Given the description of an element on the screen output the (x, y) to click on. 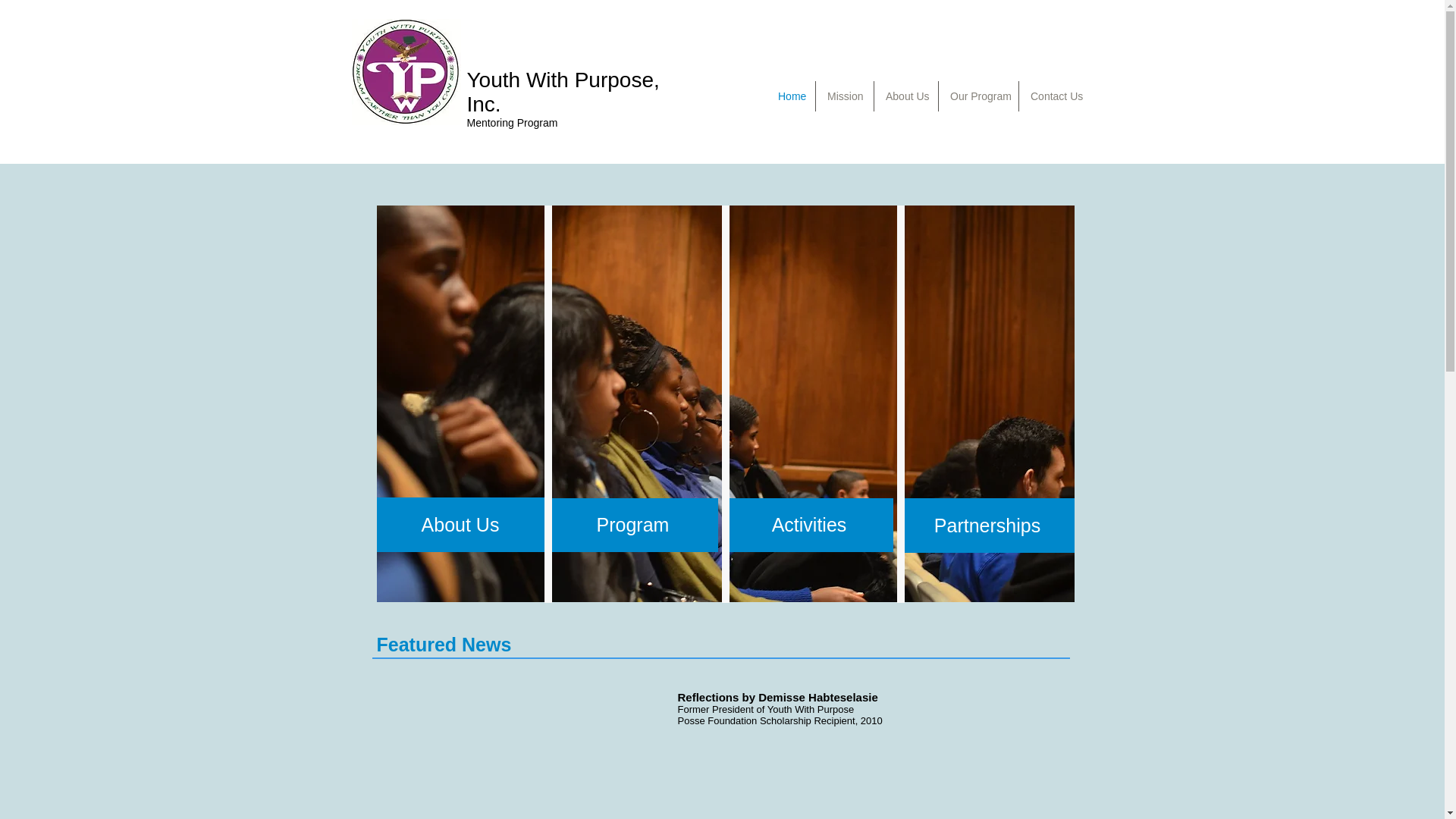
Home (791, 96)
Contact Us (1054, 96)
Program (632, 524)
Mentoring Program (512, 122)
Youth With Purpose, Inc. (563, 91)
Activities (808, 524)
Partnerships (987, 524)
About Us (906, 96)
About Us (459, 524)
External YouTube (515, 746)
